Given the description of an element on the screen output the (x, y) to click on. 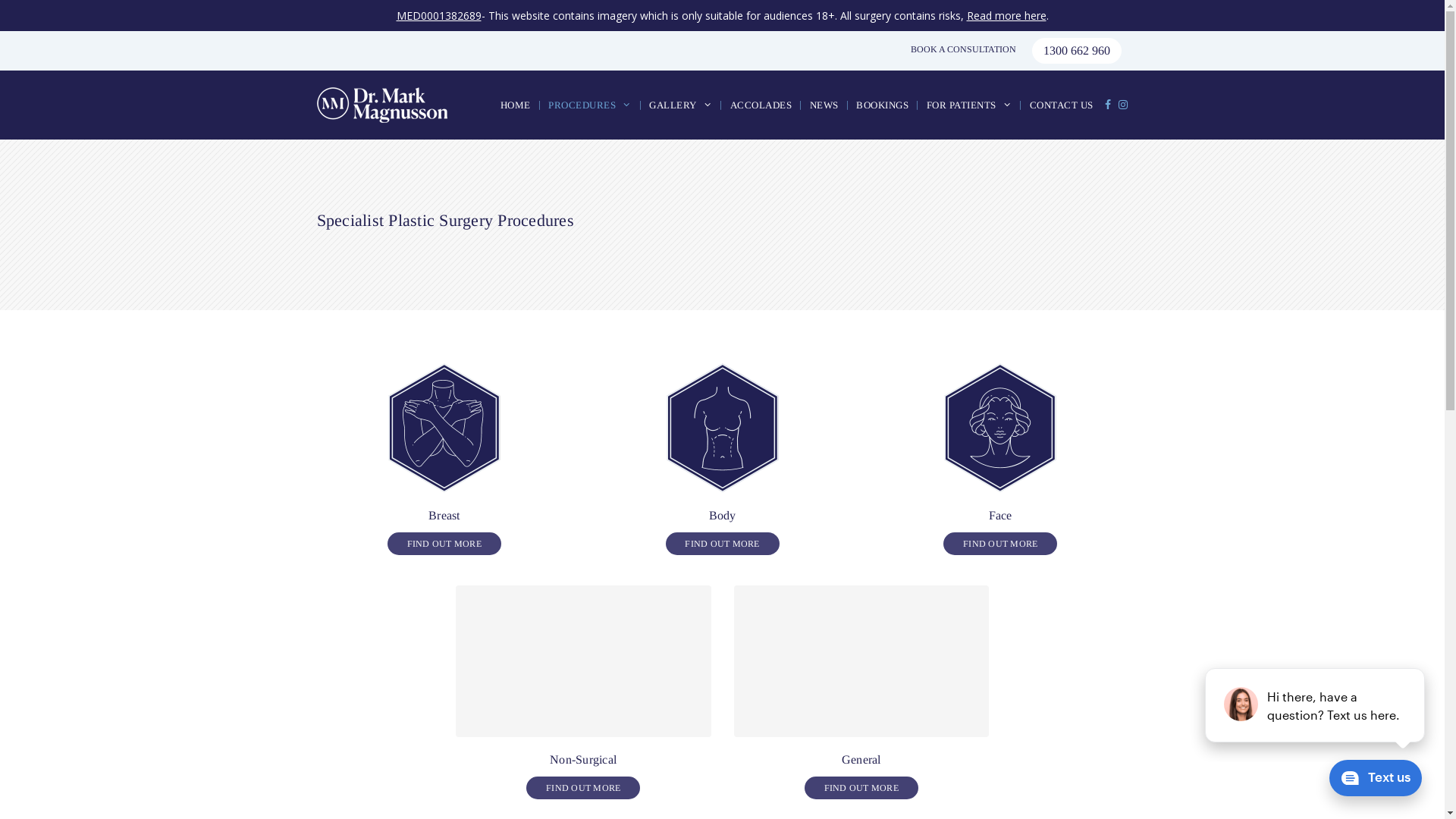
podium webchat widget prompt Element type: hover (1315, 705)
FOR PATIENTS Element type: text (967, 104)
CONTACT US Element type: text (1060, 104)
Procedures 2 Element type: hover (721, 427)
GALLERY Element type: text (679, 104)
NEWS Element type: text (822, 104)
FIND OUT MORE Element type: text (722, 543)
MED0001382689 Element type: text (437, 15)
ACCOLADES Element type: text (759, 104)
1300 662 960 Element type: text (1075, 50)
Procedures 1 Element type: hover (444, 427)
PROCEDURES Element type: text (588, 104)
BOOK A CONSULTATION Element type: text (962, 49)
FIND OUT MORE Element type: text (583, 787)
HOME Element type: text (515, 104)
Procedures 3 Element type: hover (1000, 427)
FIND OUT MORE Element type: text (861, 787)
FIND OUT MORE Element type: text (1000, 543)
Dr Mark Magnusson Element type: hover (385, 104)
BOOKINGS Element type: text (881, 104)
Read more here Element type: text (1005, 15)
Dr Mark Magnusson Element type: hover (381, 104)
FIND OUT MORE Element type: text (444, 543)
